Given the description of an element on the screen output the (x, y) to click on. 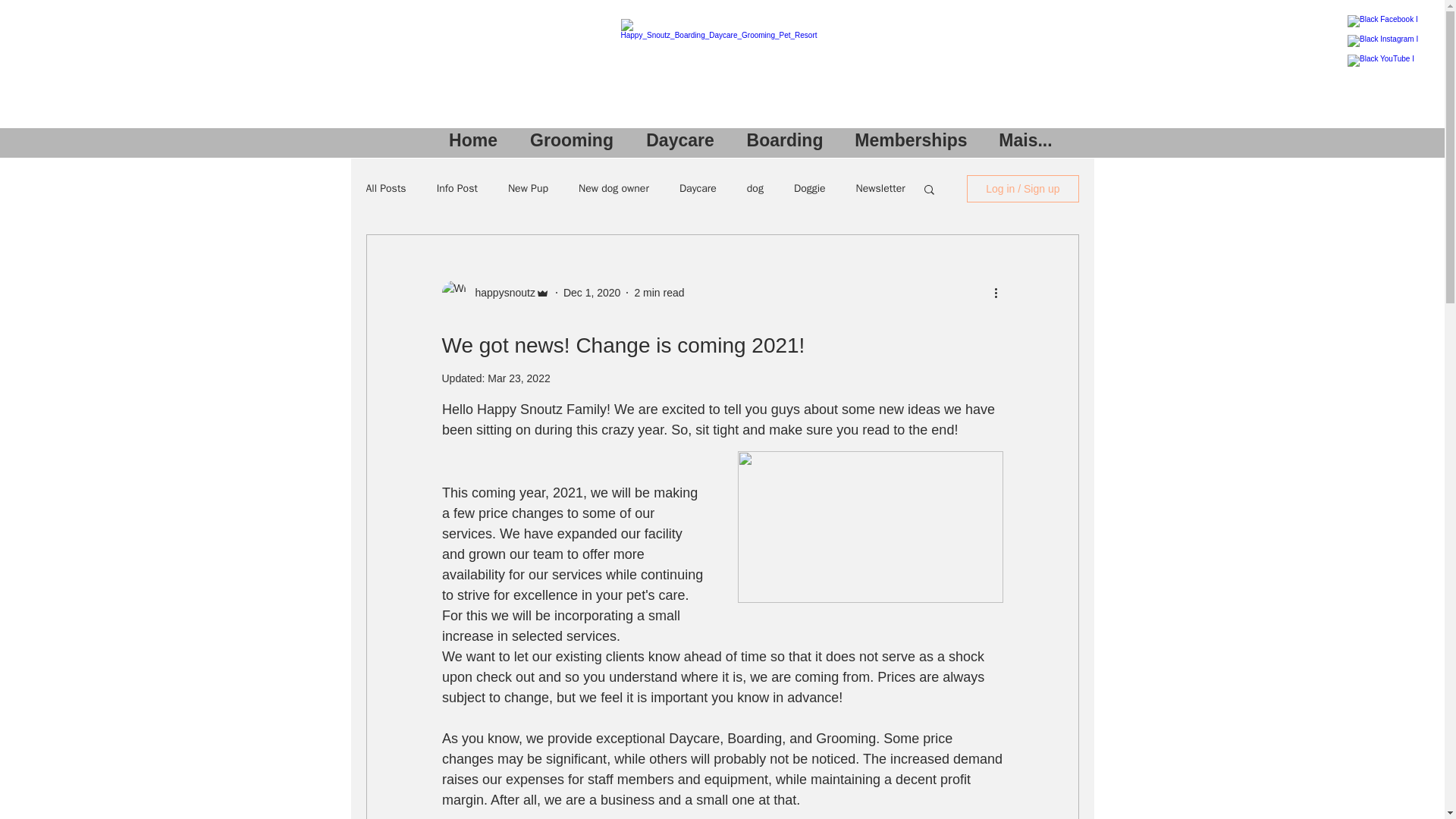
Doggie (809, 188)
Dec 1, 2020 (592, 292)
Newsletter (880, 188)
Mar 23, 2022 (518, 378)
New dog owner (613, 188)
dog (754, 188)
Daycare (697, 188)
Boarding (785, 139)
Grooming (571, 139)
Home (472, 139)
Memberships (910, 139)
Daycare (679, 139)
All Posts (385, 188)
2 min read (658, 292)
happysnoutz (499, 293)
